Given the description of an element on the screen output the (x, y) to click on. 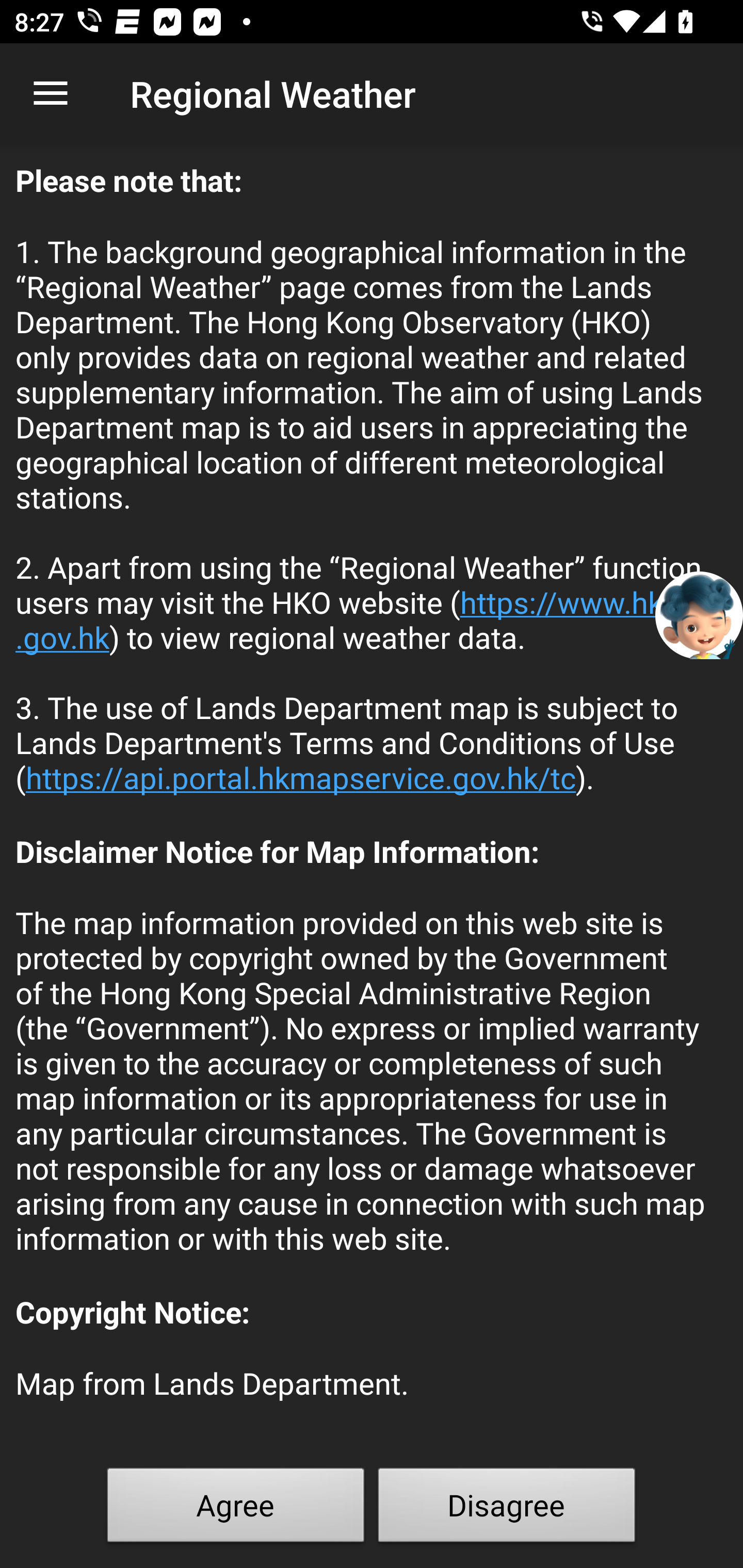
Navigate up (50, 93)
Chatbot (699, 614)
Agree (235, 1509)
Disagree (506, 1509)
